Given the description of an element on the screen output the (x, y) to click on. 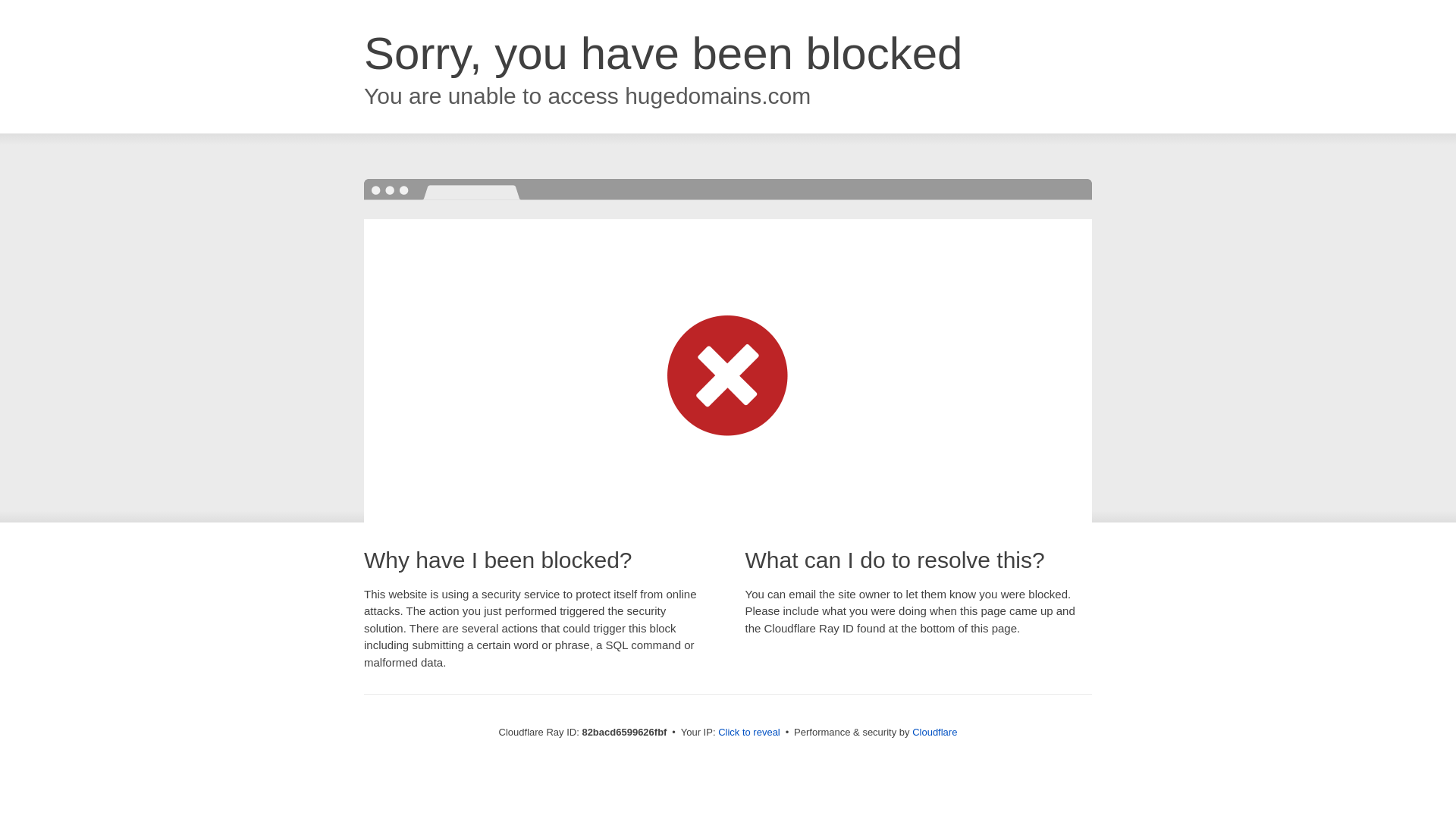
Click to reveal Element type: text (749, 732)
Cloudflare Element type: text (934, 731)
